Given the description of an element on the screen output the (x, y) to click on. 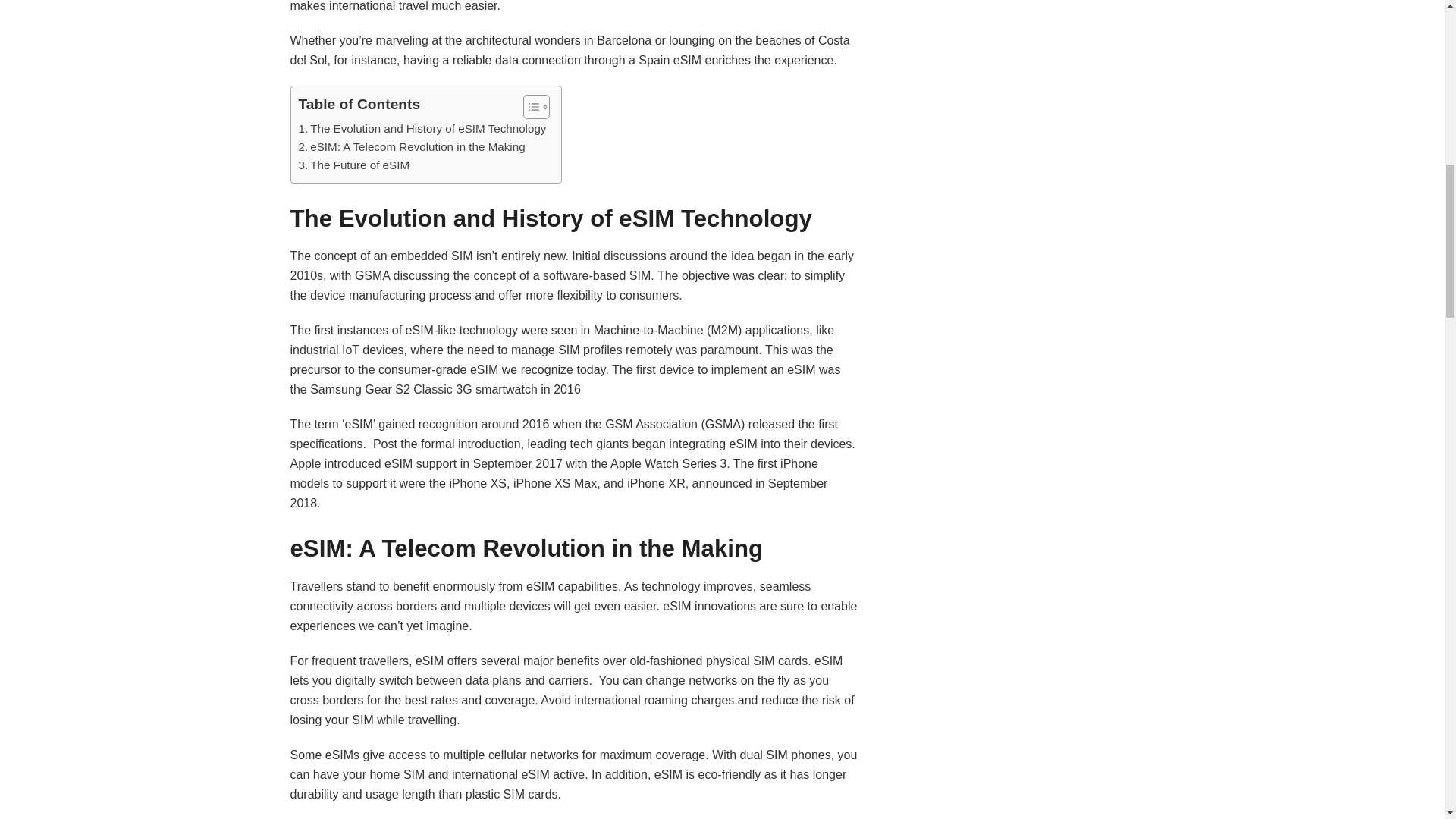
eSIM: A Telecom Revolution in the Making (411, 147)
The Future of eSIM (354, 165)
The Evolution and History of eSIM Technology (422, 128)
